Given the description of an element on the screen output the (x, y) to click on. 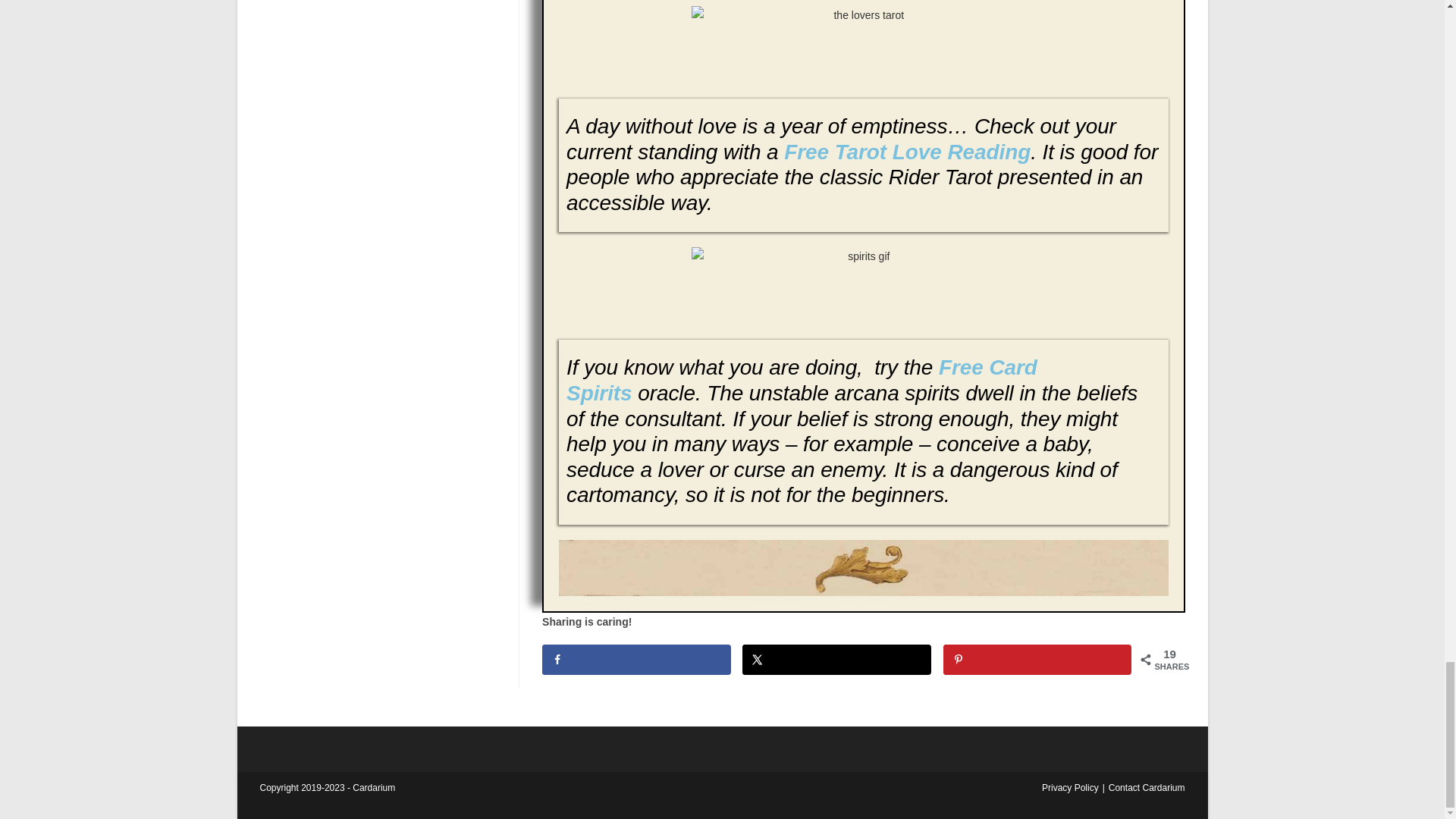
Save to Pinterest (1037, 659)
Share on Facebook (635, 659)
Share on X (836, 659)
